Given the description of an element on the screen output the (x, y) to click on. 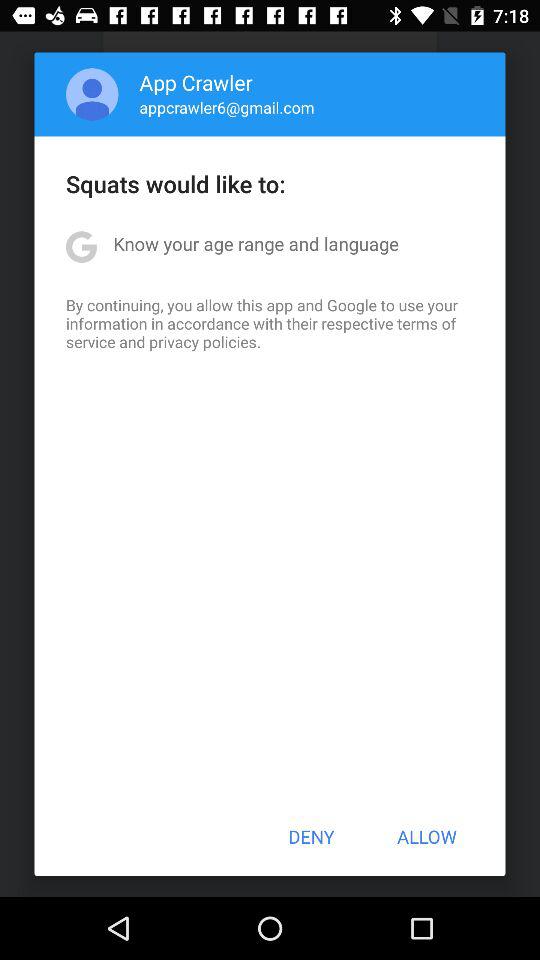
flip to the appcrawler6@gmail.com item (226, 107)
